Given the description of an element on the screen output the (x, y) to click on. 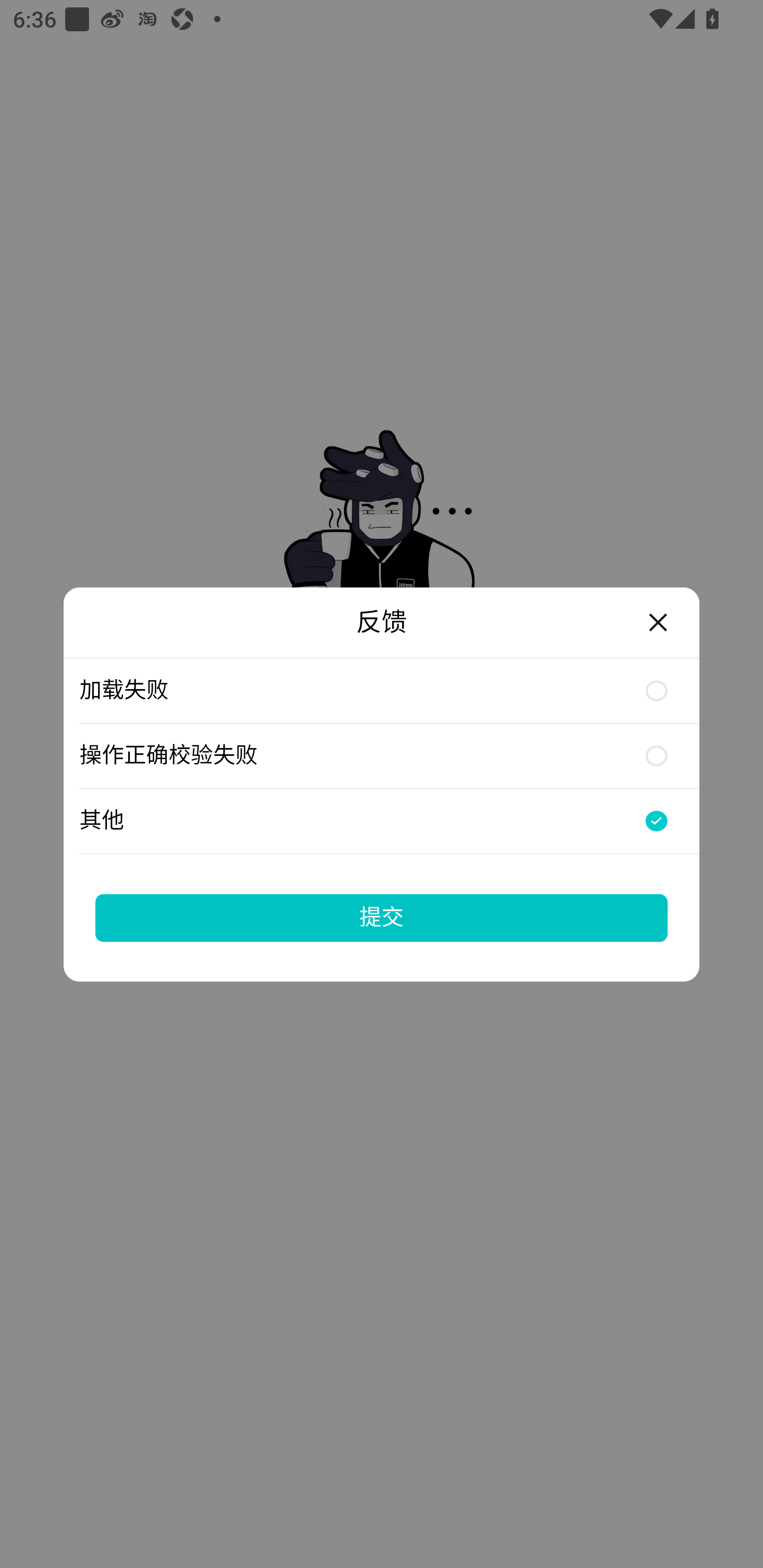
提交 (381, 917)
